Given the description of an element on the screen output the (x, y) to click on. 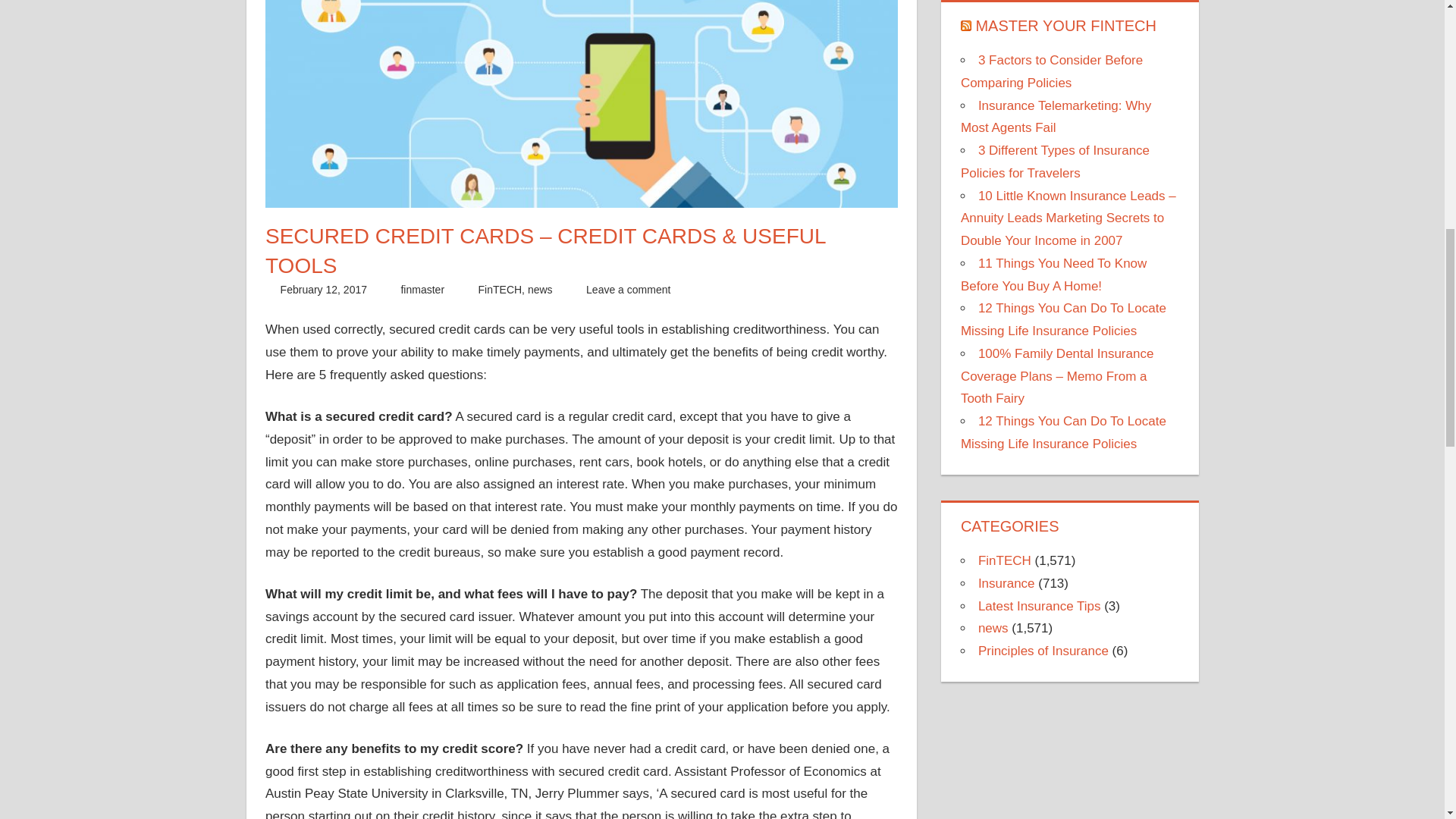
news (540, 289)
news (993, 627)
Insurance (1006, 583)
FinTECH (500, 289)
Leave a comment (627, 289)
finmaster (422, 289)
3 Different Types of Insurance Policies for Travelers (1055, 161)
8:52 pm (323, 289)
3 Factors to Consider Before Comparing Policies (1051, 71)
11 Things You Need To Know Before You Buy A Home! (1053, 274)
View all posts by finmaster (422, 289)
FinTECH (1004, 560)
Latest Insurance Tips (1039, 605)
